Given the description of an element on the screen output the (x, y) to click on. 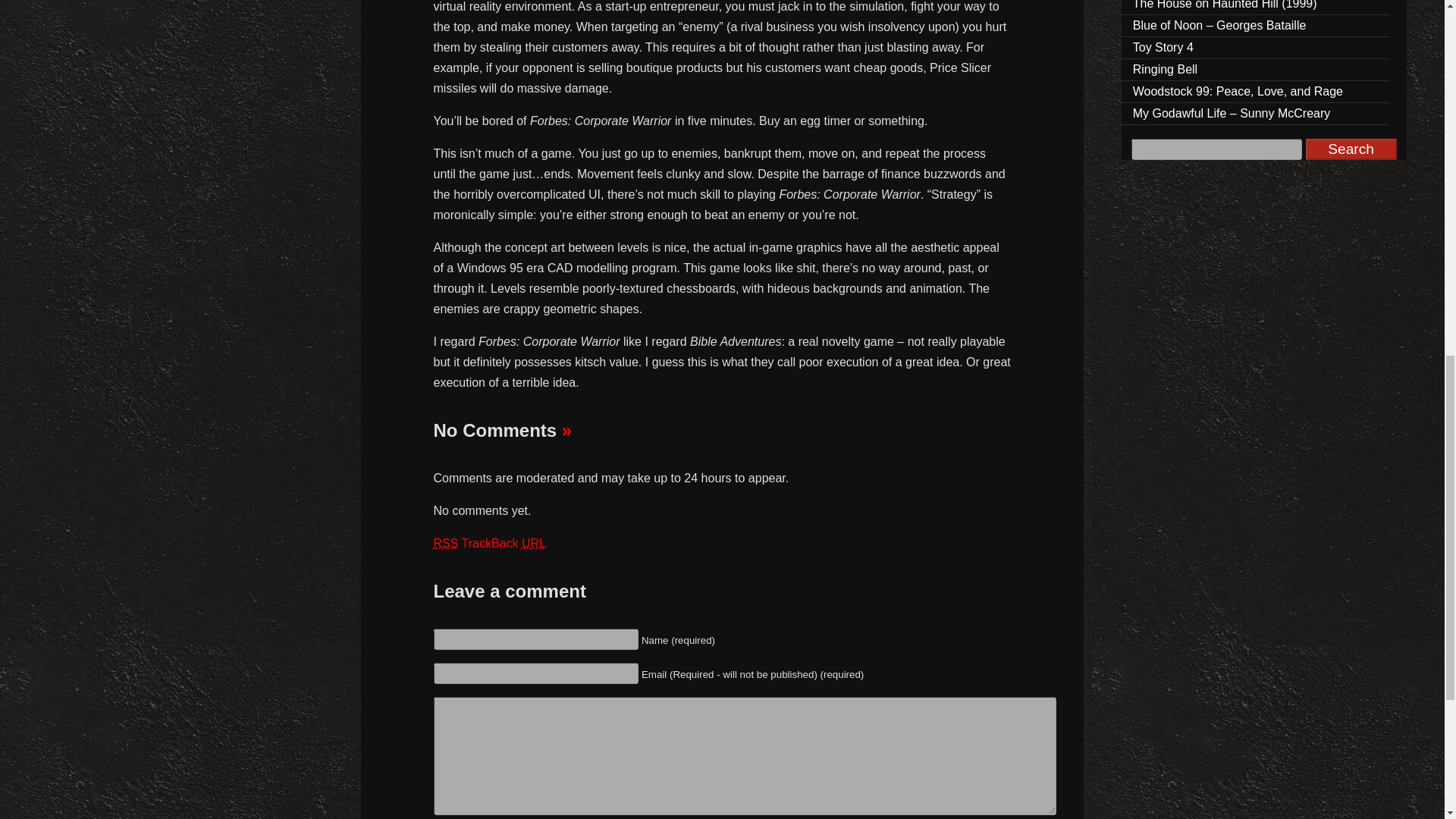
Universal Resource Locator (533, 543)
TrackBack URL (503, 543)
Search (1351, 148)
Woodstock 99: Peace, Love, and Rage (1255, 92)
Really Simple Syndication (445, 543)
Search (1351, 148)
RSS (445, 543)
Toy Story 4 (1255, 47)
Ringing Bell (1255, 69)
